Given the description of an element on the screen output the (x, y) to click on. 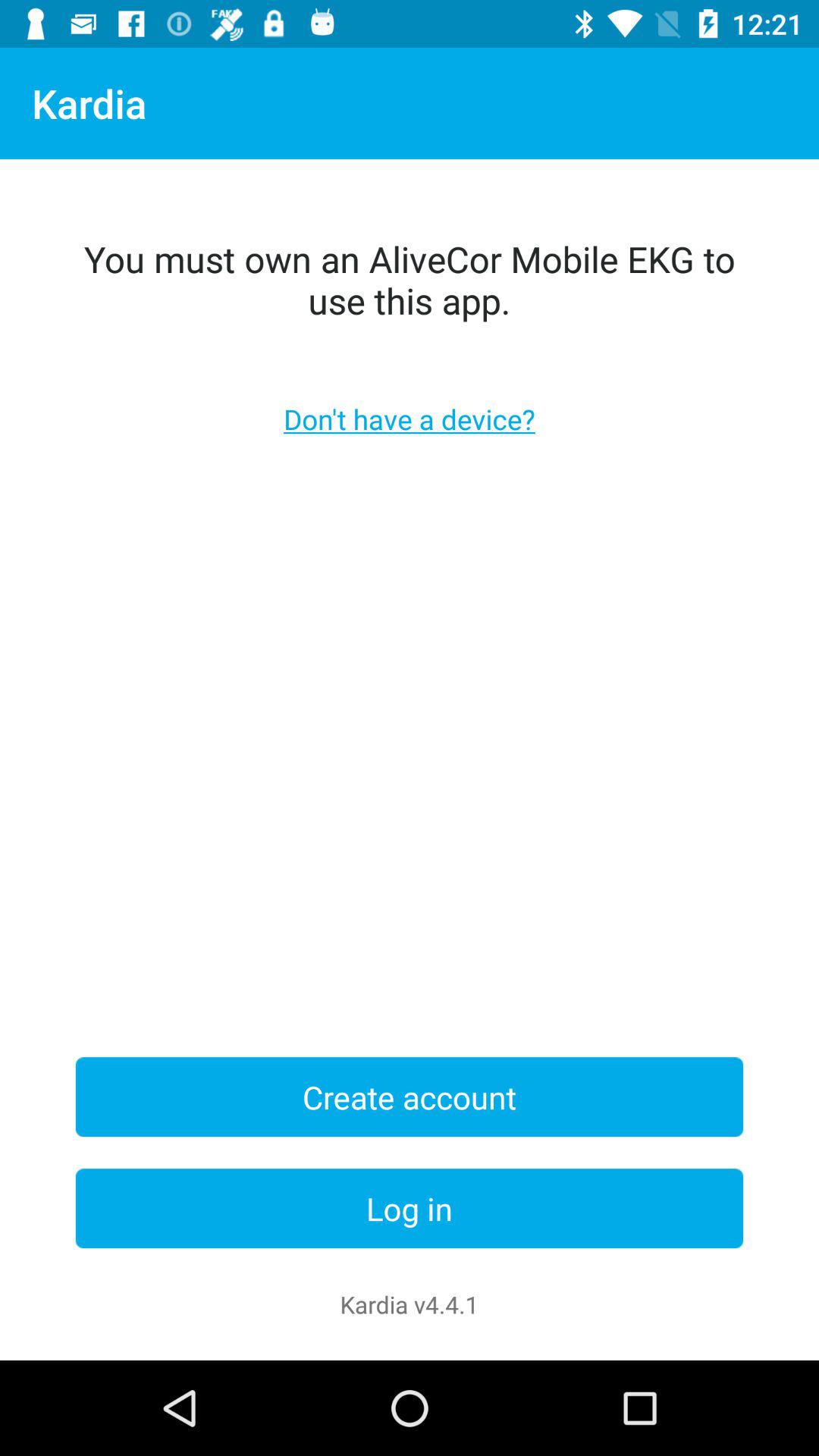
scroll until the create account item (409, 1096)
